Given the description of an element on the screen output the (x, y) to click on. 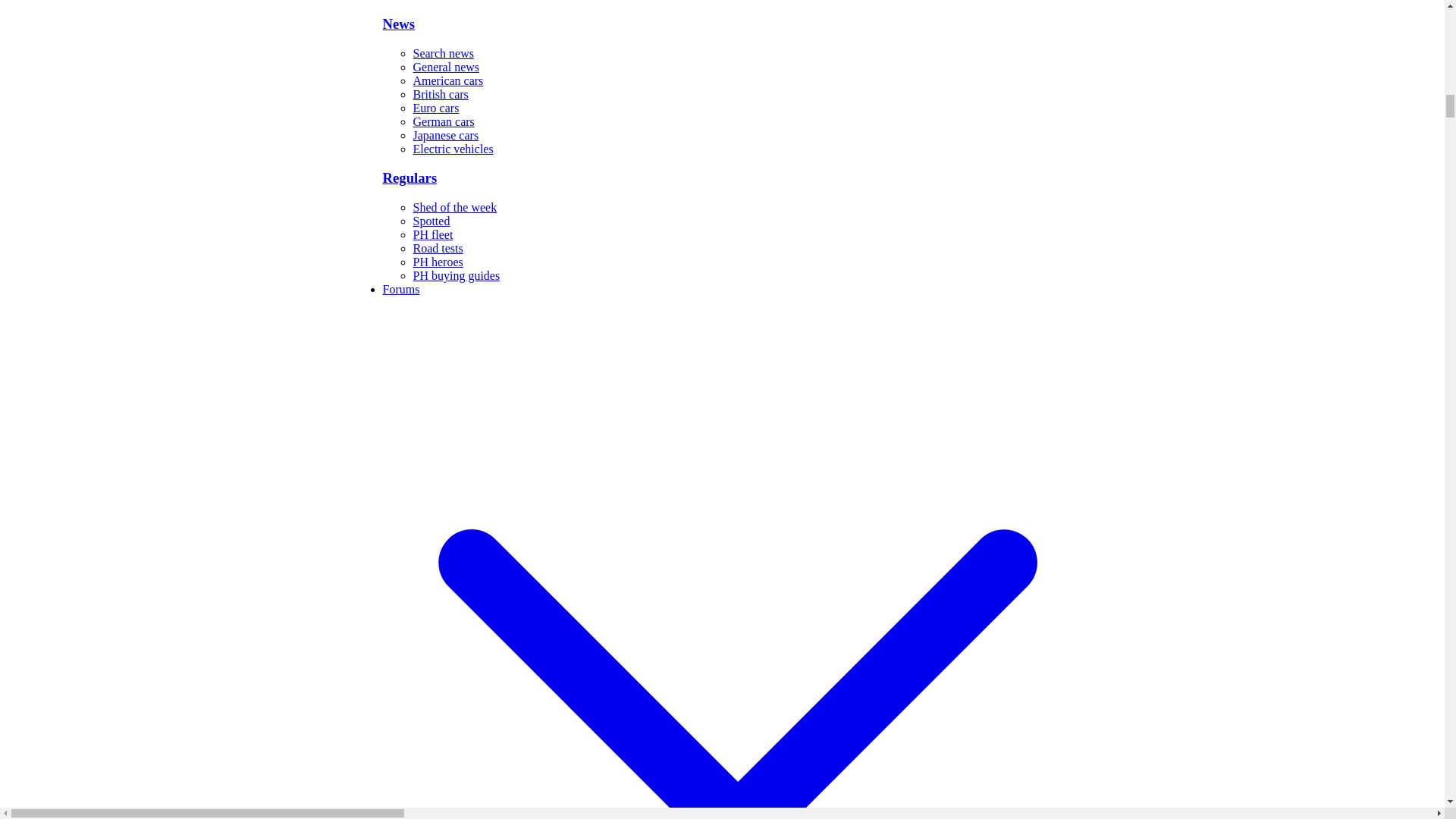
General news (445, 66)
Search news (442, 52)
PH heroes (437, 261)
Euro cars (435, 107)
Electric vehicles (452, 148)
Regulars (736, 177)
Road tests (437, 247)
British cars (439, 93)
PH fleet (432, 234)
PH buying guides (455, 275)
American cars (447, 80)
Japanese cars (445, 134)
News (736, 23)
Spotted (430, 220)
